Given the description of an element on the screen output the (x, y) to click on. 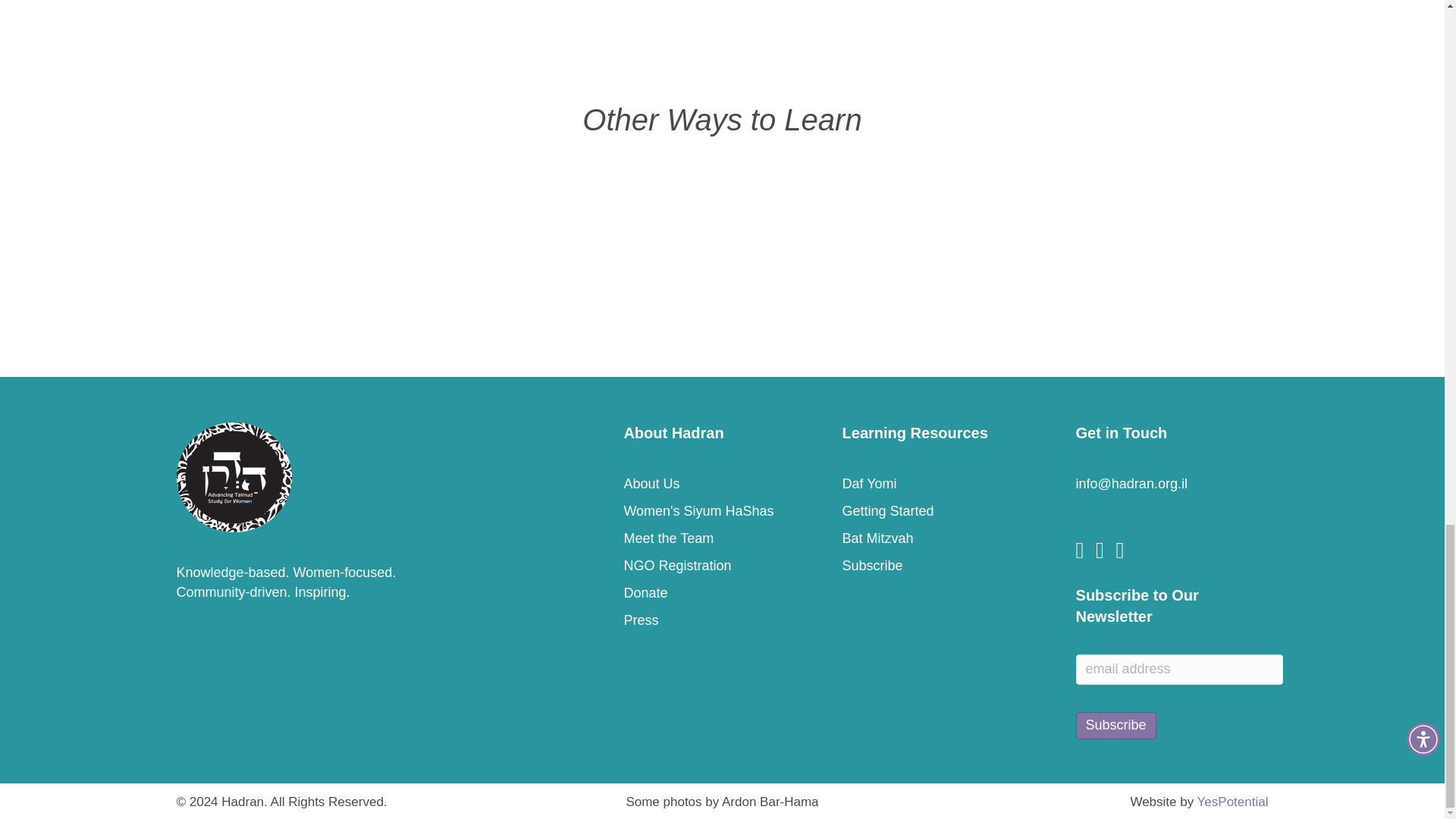
Subscribe (1115, 725)
